Given the description of an element on the screen output the (x, y) to click on. 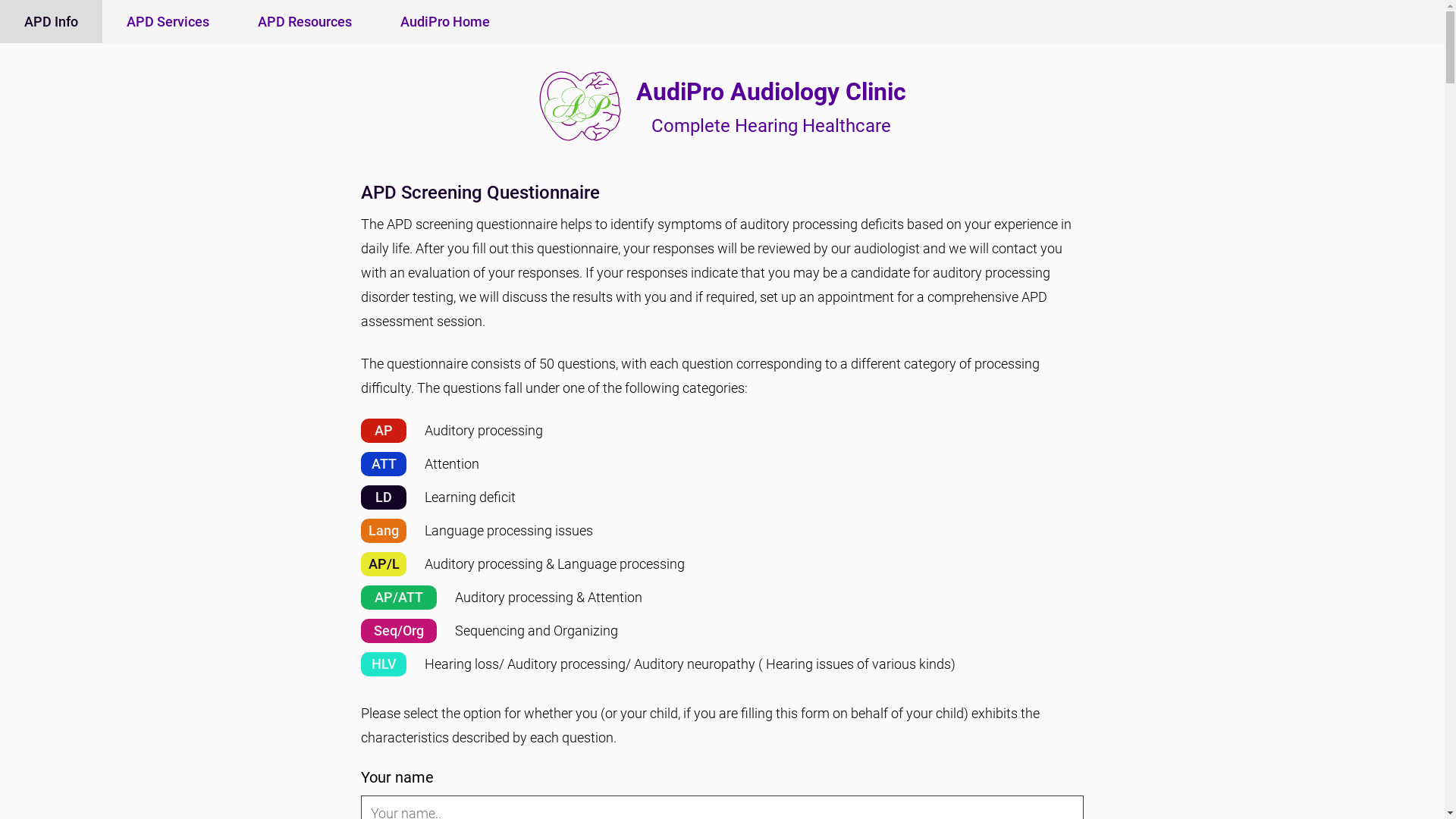
AudiPro Home Element type: text (445, 21)
APD Info Element type: text (51, 21)
APD Services Element type: text (167, 21)
APD Resources Element type: text (304, 21)
